Given the description of an element on the screen output the (x, y) to click on. 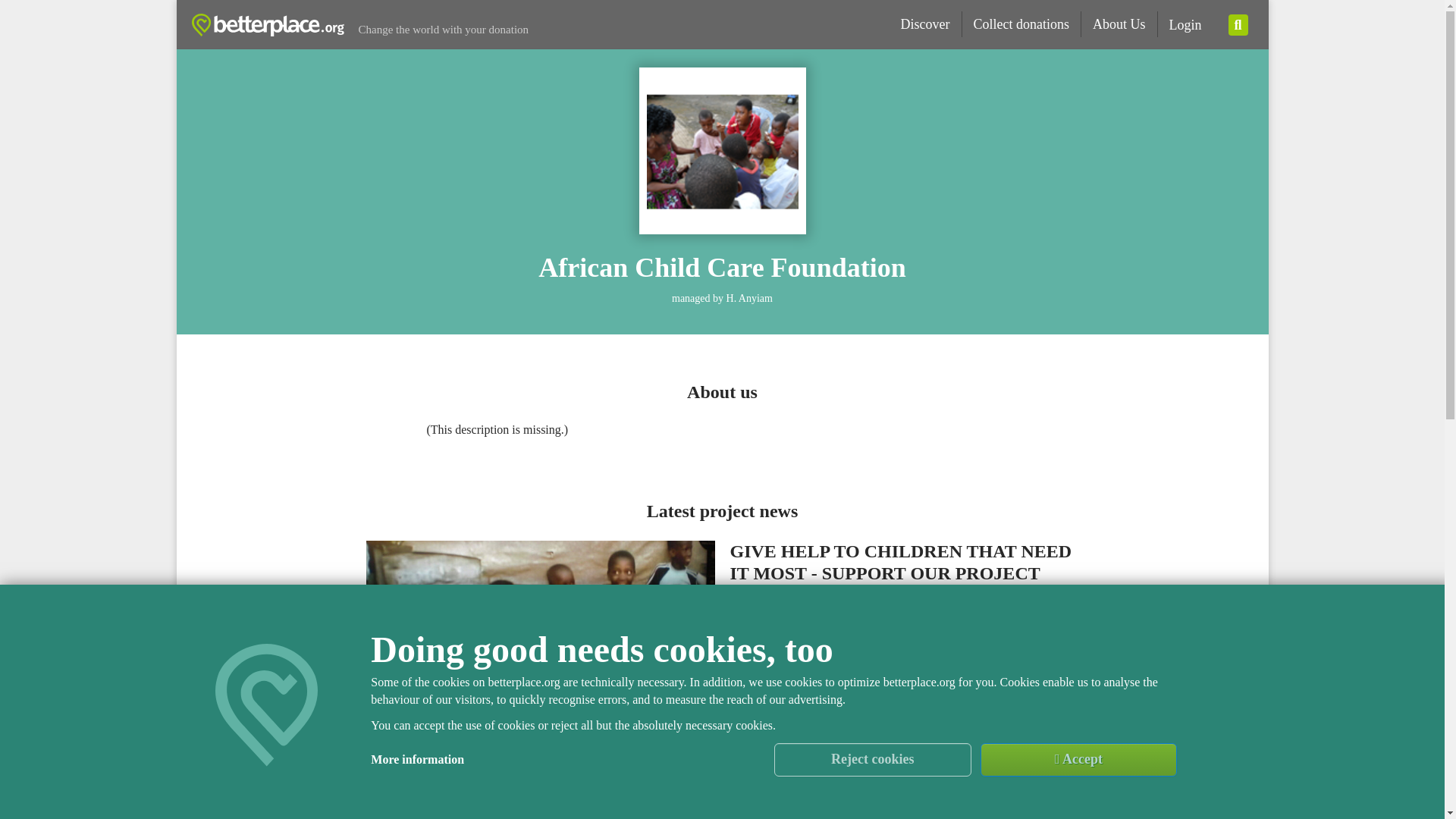
Discover (925, 23)
continue reading (903, 728)
Login (1184, 25)
About Us (1119, 23)
Collect donations (1020, 23)
Search (1237, 25)
